Given the description of an element on the screen output the (x, y) to click on. 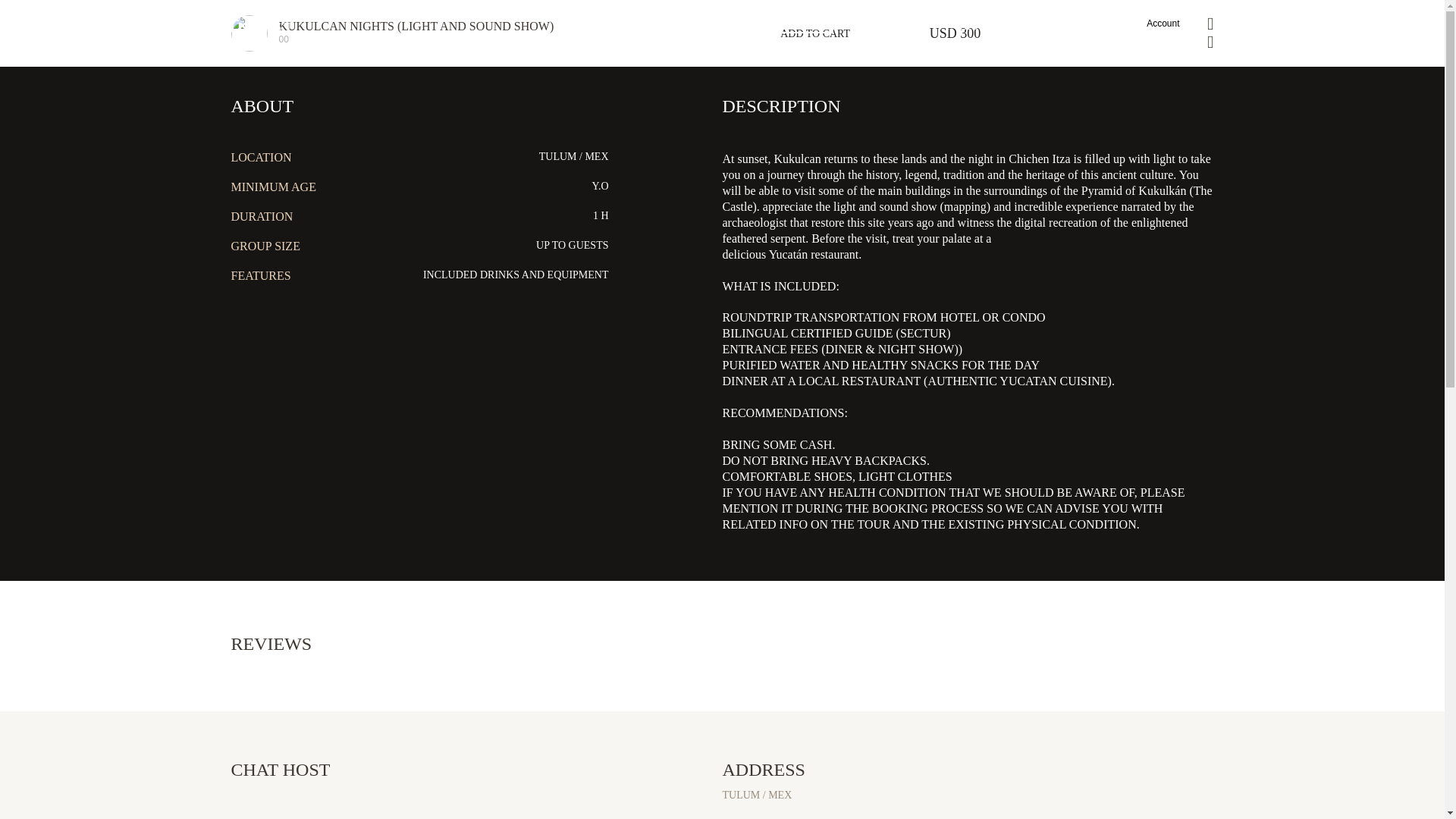
0 (1137, 23)
MESSAGES (1057, 24)
Account (879, 33)
EARN WITH INLIST (1163, 23)
DOWNLOAD APP (928, 24)
